Given the description of an element on the screen output the (x, y) to click on. 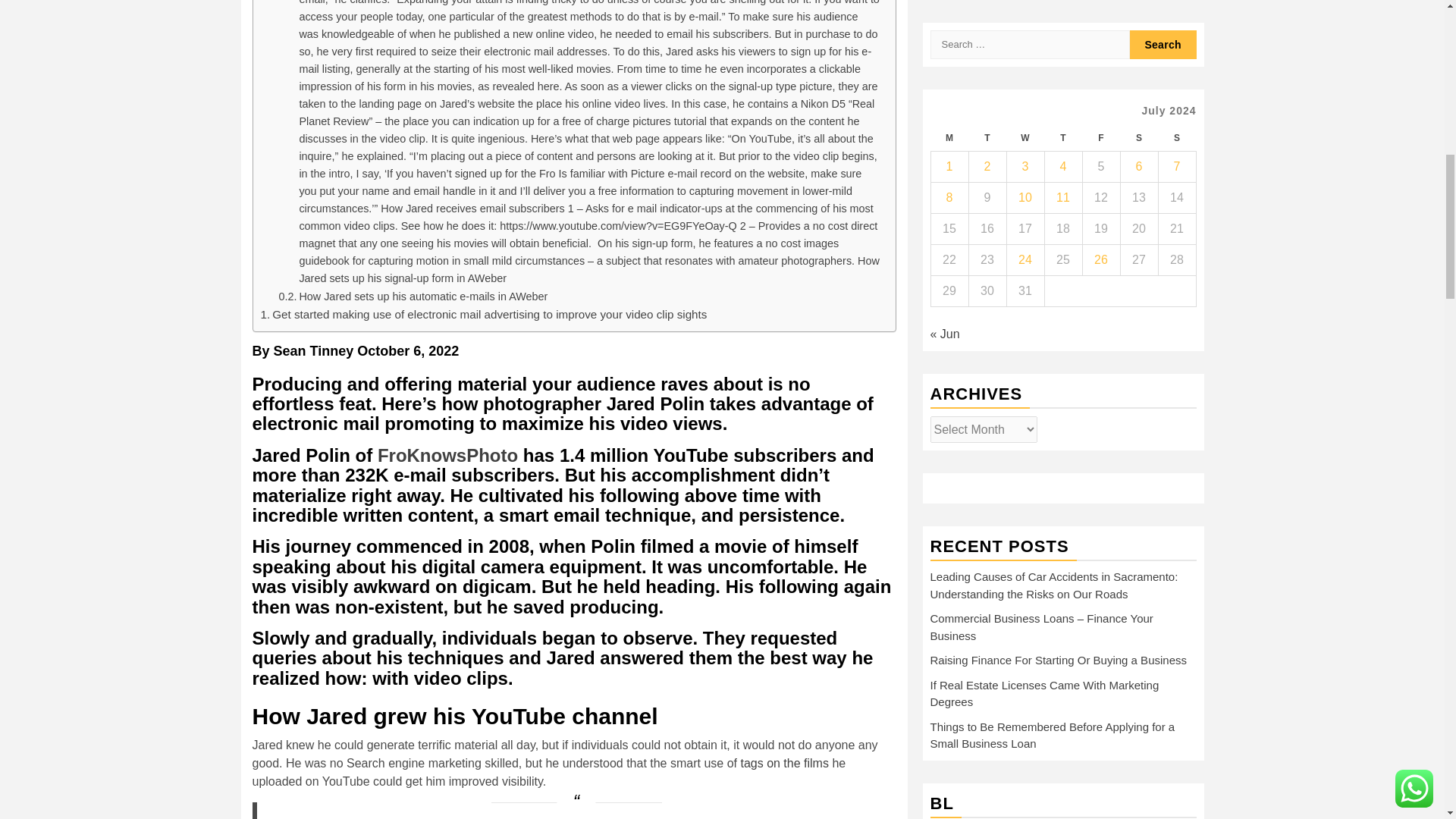
FroKnowsPhoto (447, 455)
How Jared sets up his automatic e-mails in AWeber (413, 296)
How Jared sets up his automatic e-mails in AWeber (413, 296)
tags on the films (783, 762)
